Given the description of an element on the screen output the (x, y) to click on. 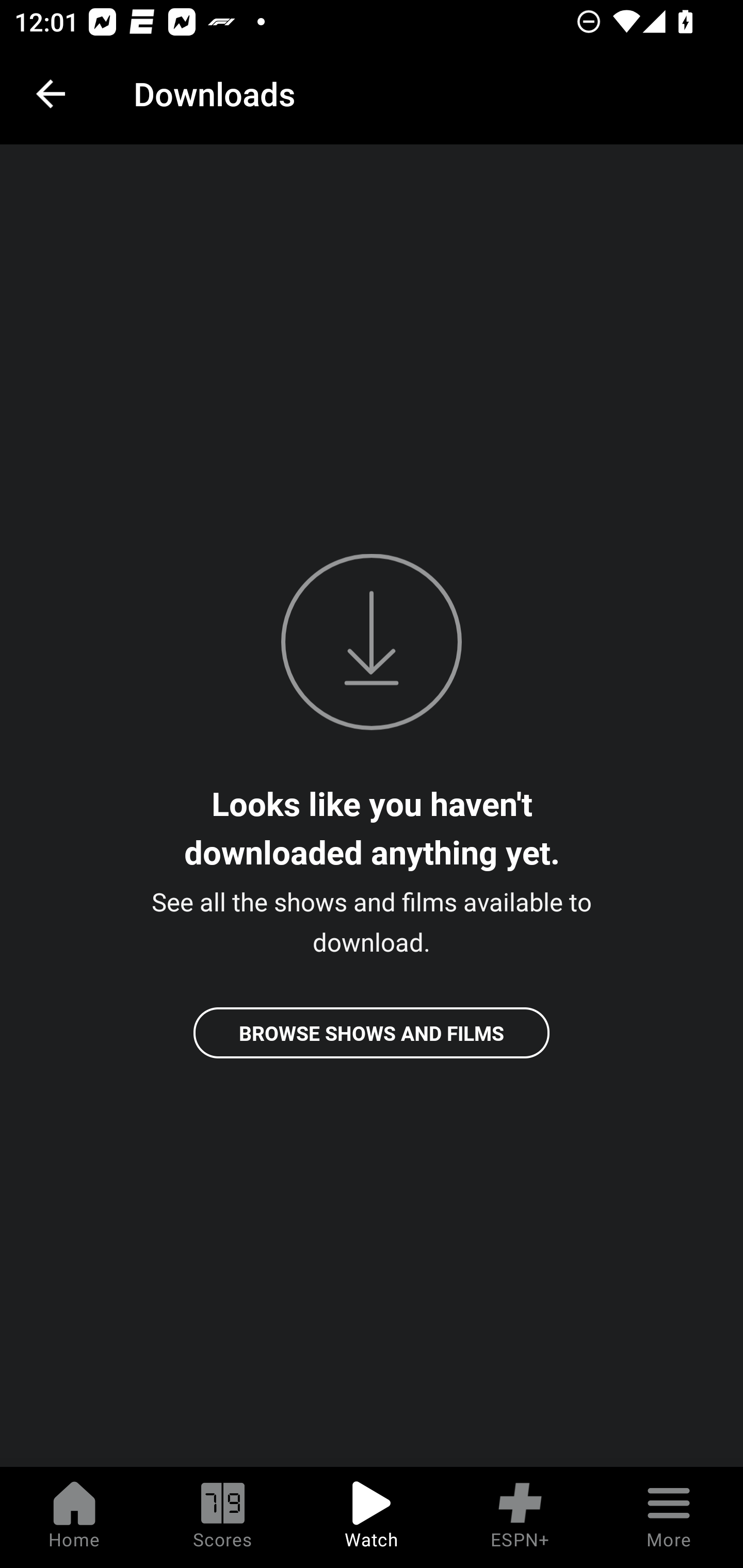
BROWSE SHOWS AND FILMS (371, 1032)
Home (74, 1517)
Scores (222, 1517)
ESPN+ (519, 1517)
More (668, 1517)
